Given the description of an element on the screen output the (x, y) to click on. 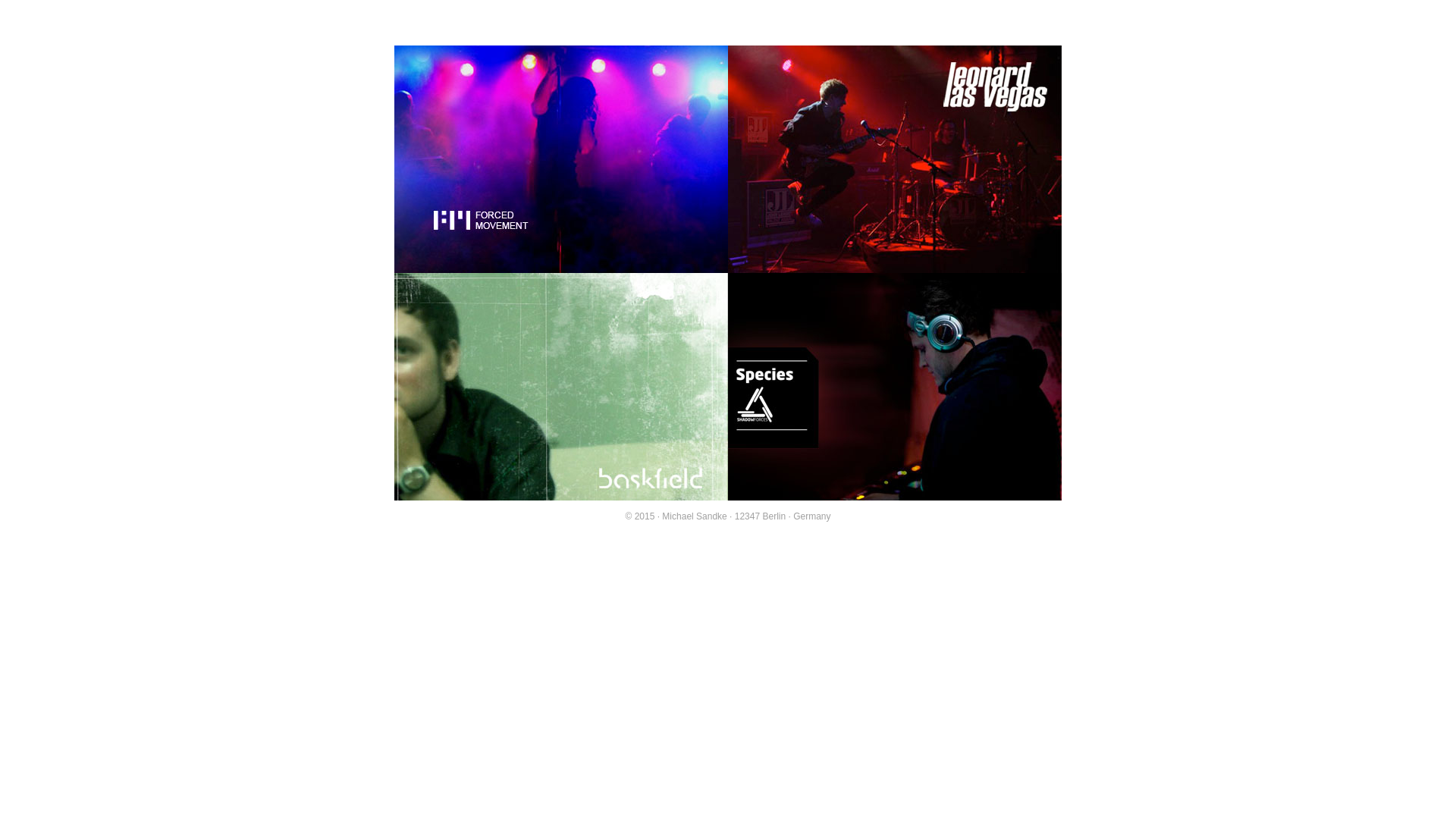
Leonard Las Vegas Element type: hover (894, 262)
Species Element type: hover (894, 386)
Forced Movement Element type: hover (561, 262)
Forced Movement Element type: hover (561, 159)
Species Element type: hover (894, 490)
Leonard Las Vegas Element type: hover (894, 159)
baskfield Element type: hover (561, 490)
baskfield Element type: hover (561, 386)
